Given the description of an element on the screen output the (x, y) to click on. 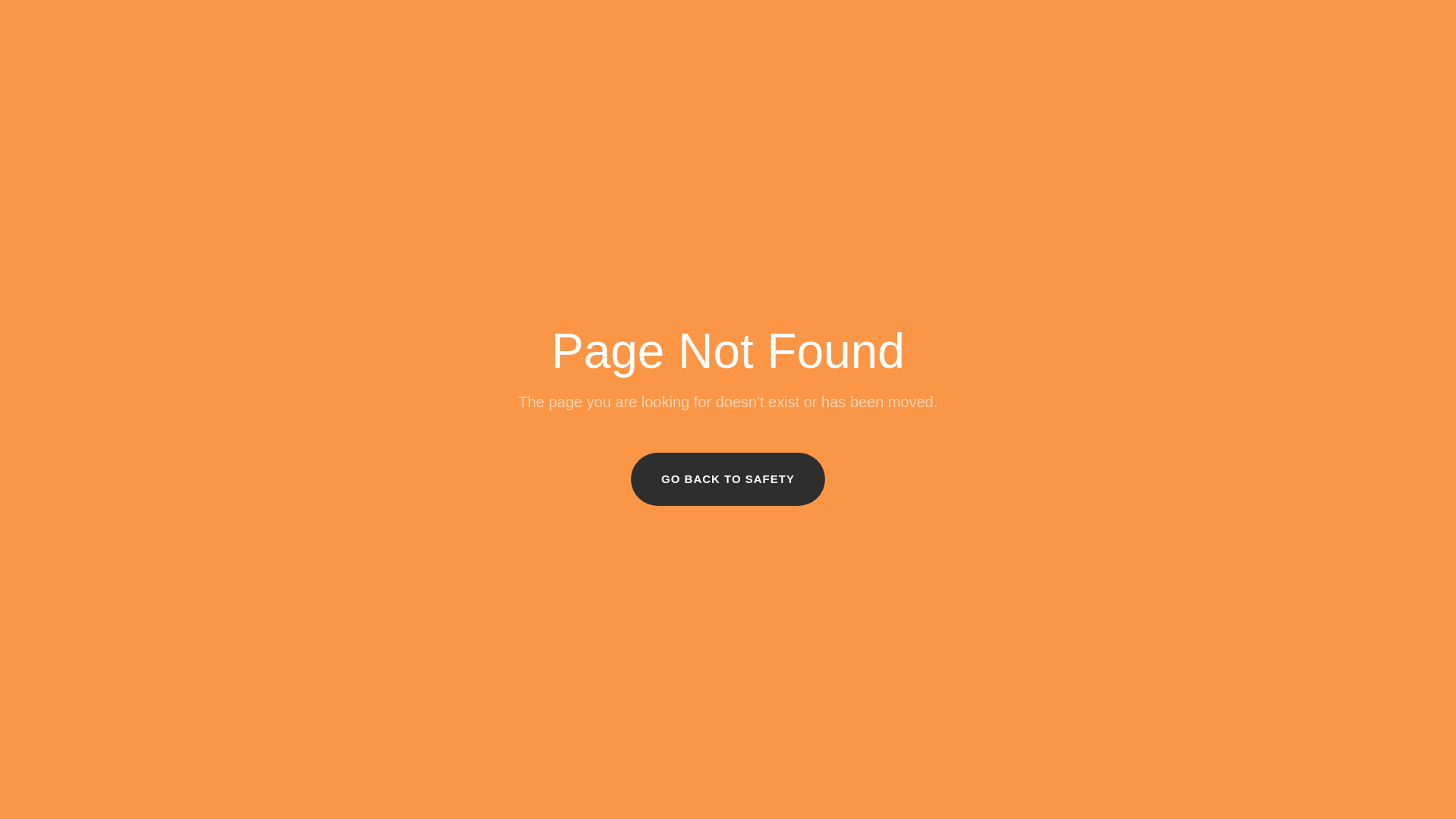
GO BACK TO SAFETY Element type: text (727, 478)
